Given the description of an element on the screen output the (x, y) to click on. 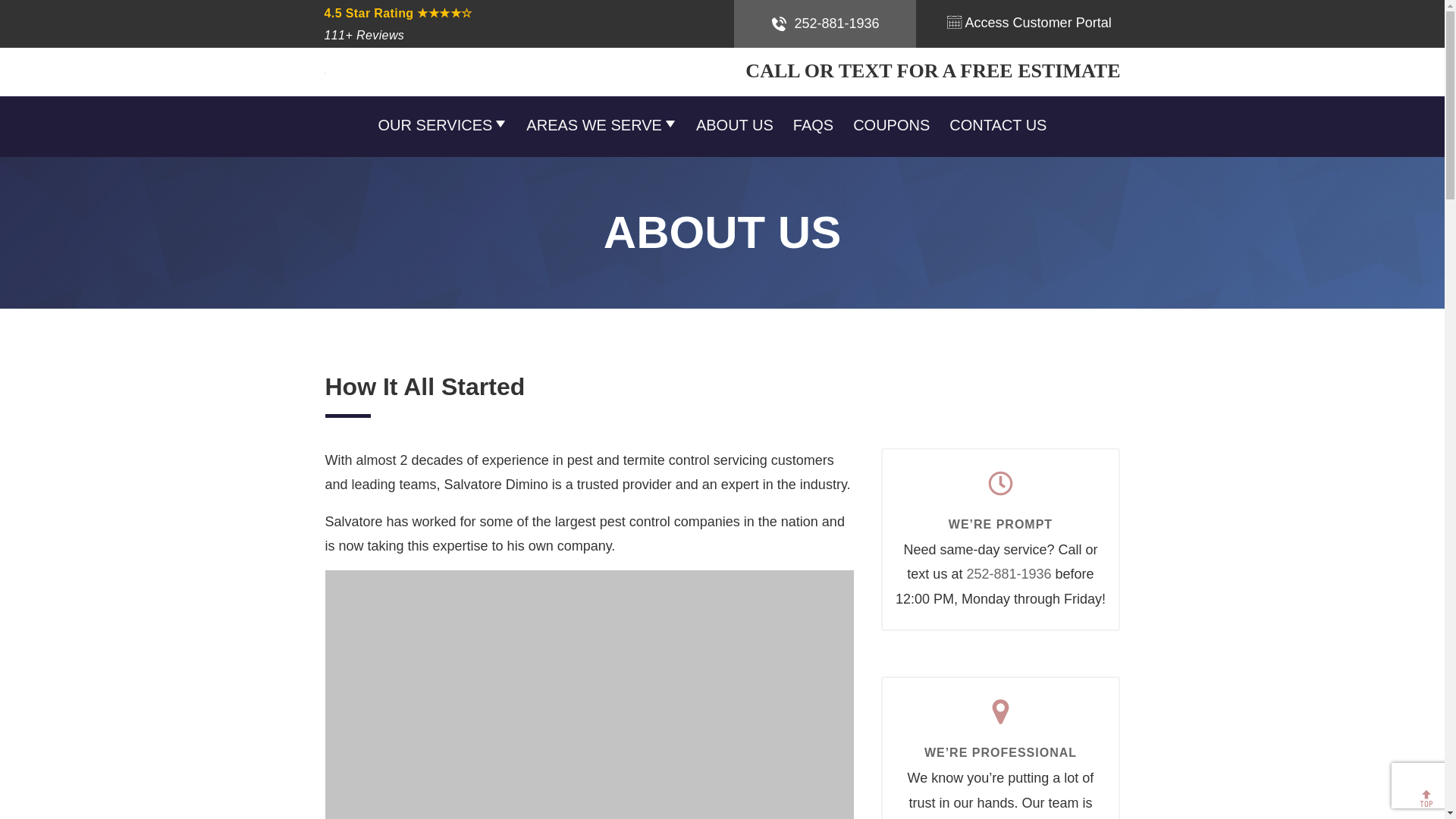
Our Services (442, 124)
252-881-1936 (824, 23)
Access Customer Portal (1028, 22)
Star Rating (415, 24)
FAQS (813, 124)
252-881-1936 (1008, 573)
COUPONS (891, 124)
CONTACT US (997, 124)
AREAS WE SERVE (600, 124)
OUR SERVICES (442, 124)
